Given the description of an element on the screen output the (x, y) to click on. 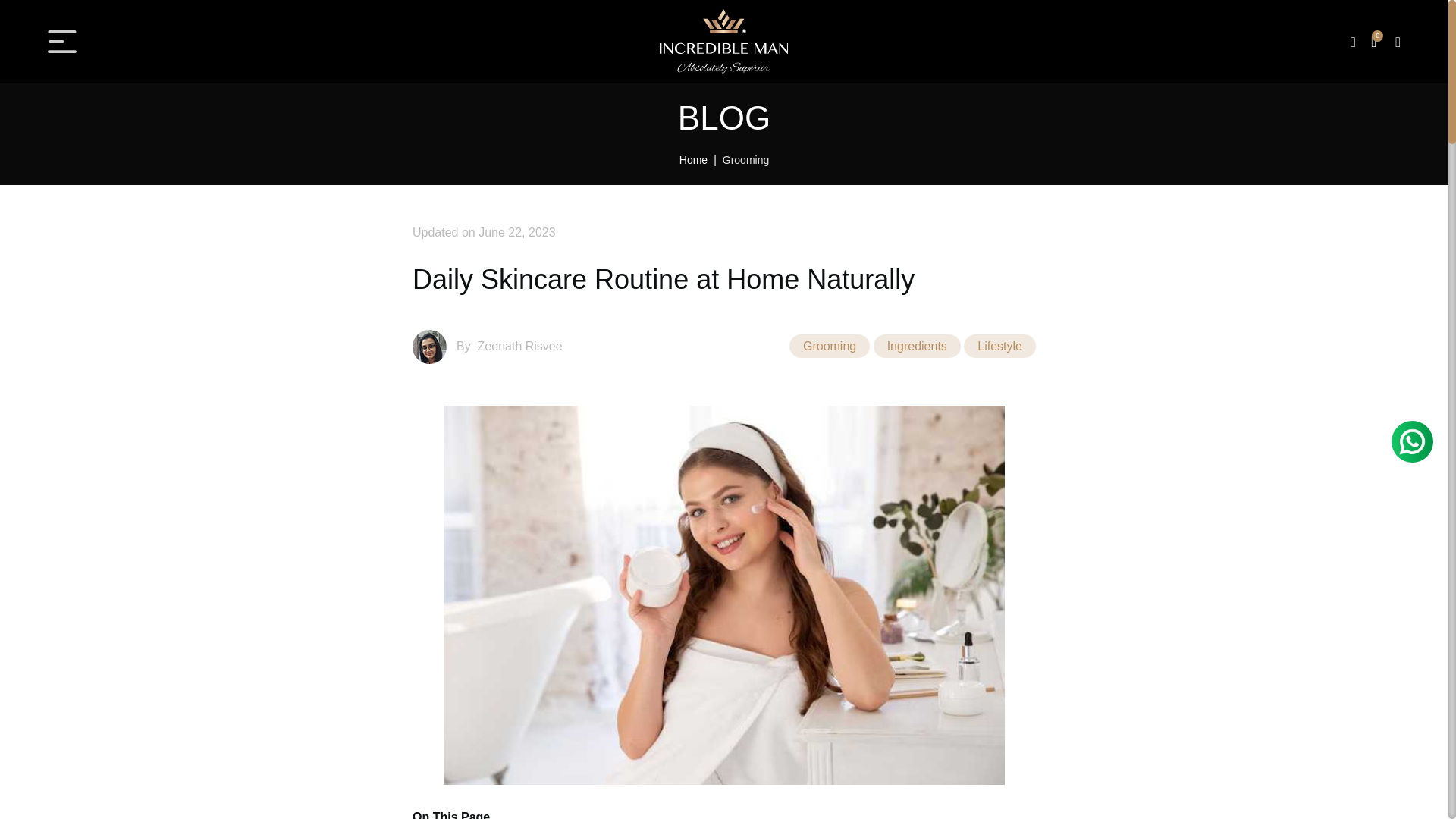
Grooming (745, 159)
Grooming (829, 345)
Home (700, 159)
Lifestyle (999, 345)
Ingredients (916, 345)
